Given the description of an element on the screen output the (x, y) to click on. 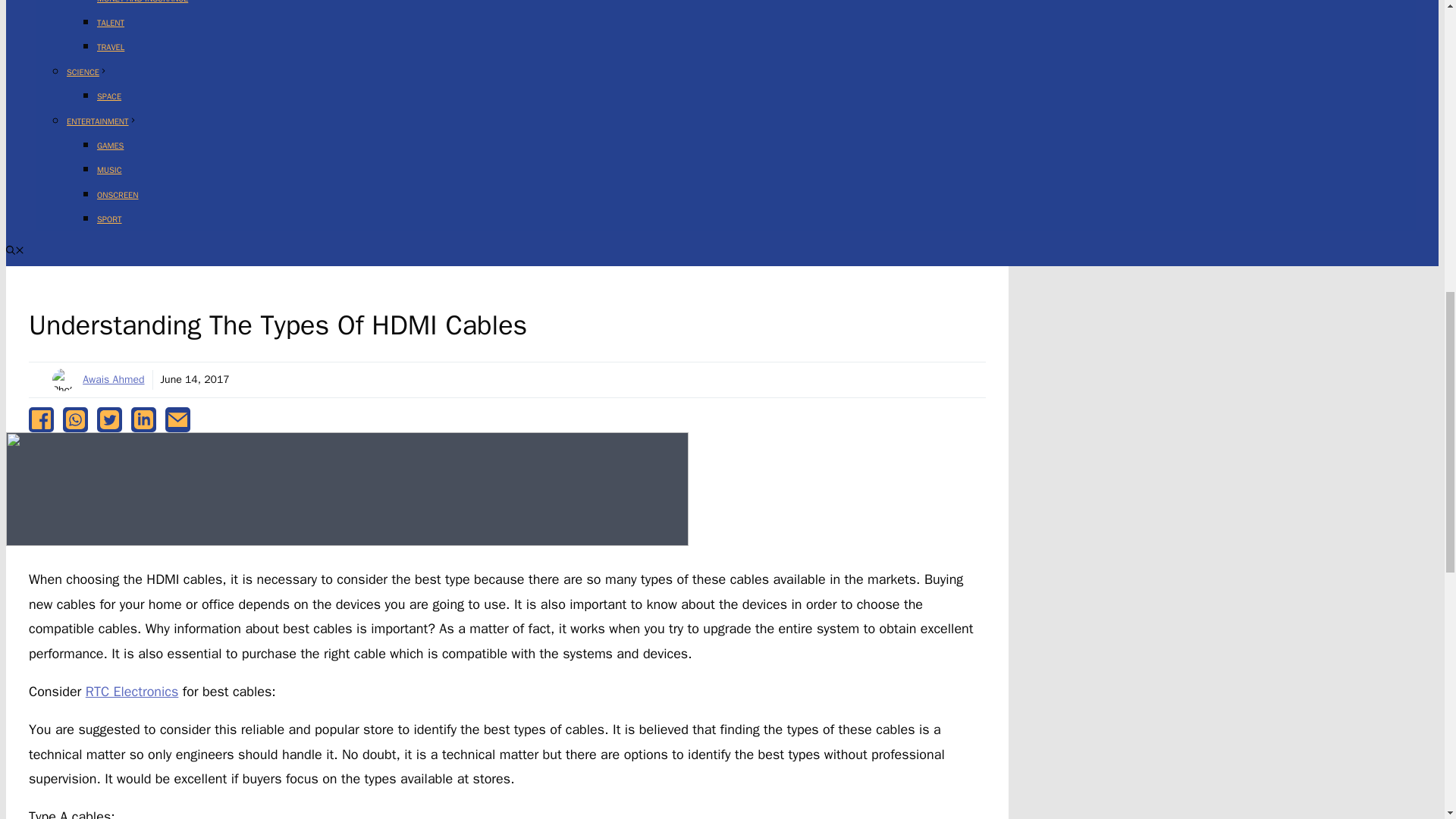
TRAVEL (110, 46)
GAMES (110, 145)
MUSIC (109, 169)
MONEY AND INSURANCE (142, 2)
SCIENCE (86, 71)
ENTERTAINMENT (101, 121)
TALENT (110, 22)
SPACE (108, 95)
